Given the description of an element on the screen output the (x, y) to click on. 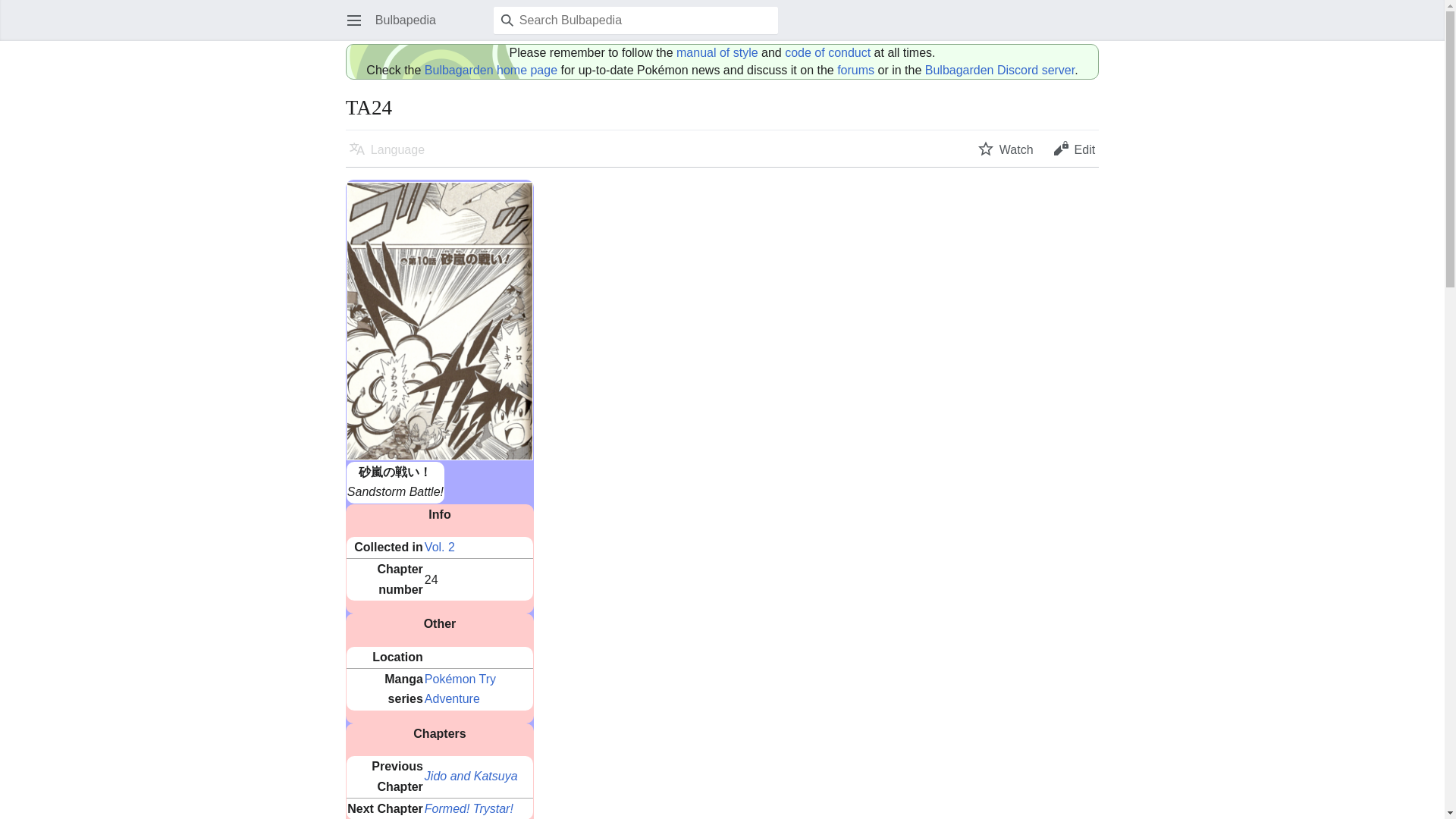
Watch (1005, 148)
Open main menu (353, 20)
Bulbagarden Discord server (999, 69)
Language (386, 148)
TA23 (471, 775)
Formed! Trystar! (469, 808)
Bulbagarden home page (491, 69)
Vol. 2 (439, 546)
Language (386, 148)
Edit (1074, 148)
